Given the description of an element on the screen output the (x, y) to click on. 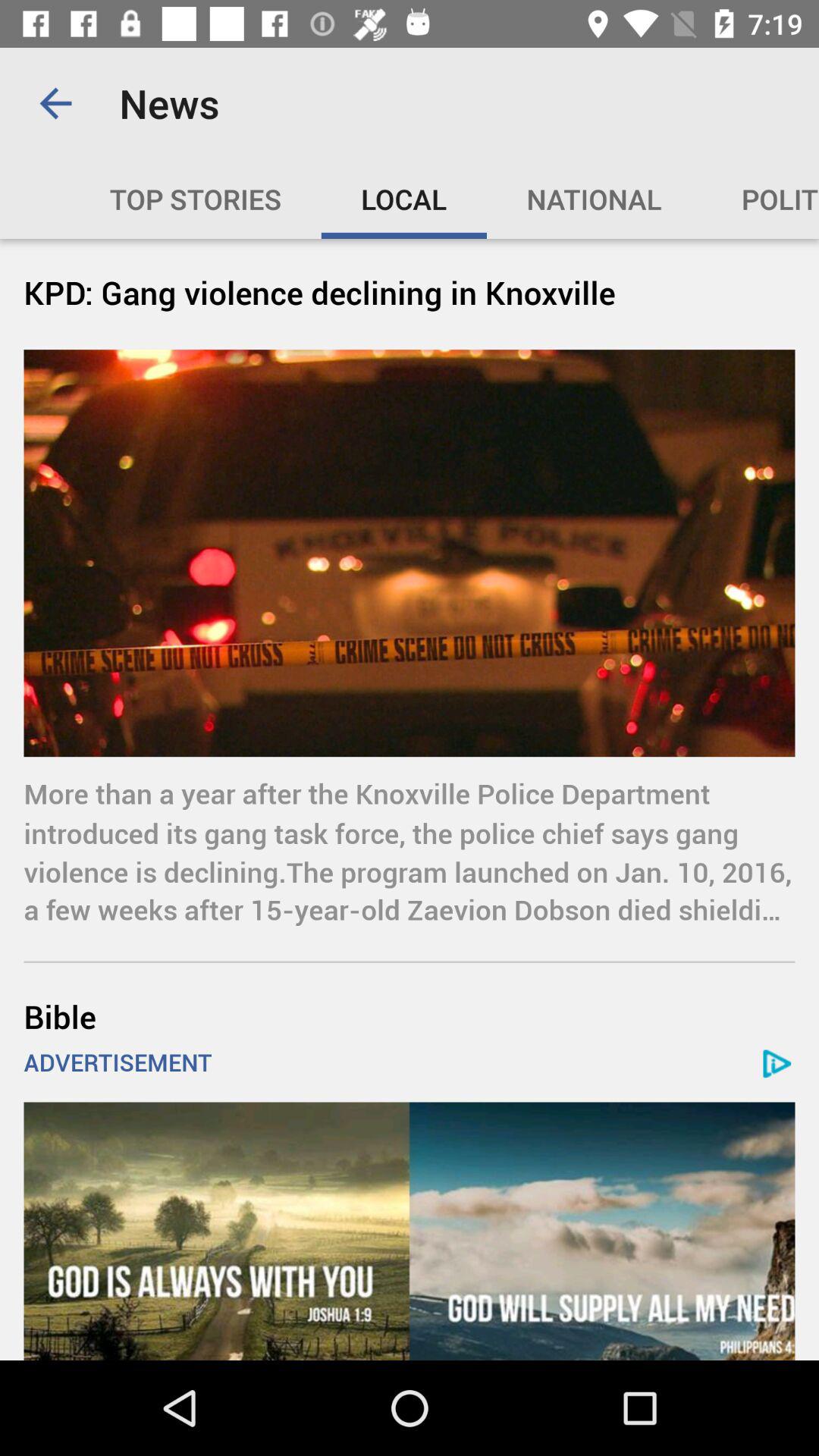
advertisement display (409, 1231)
